Given the description of an element on the screen output the (x, y) to click on. 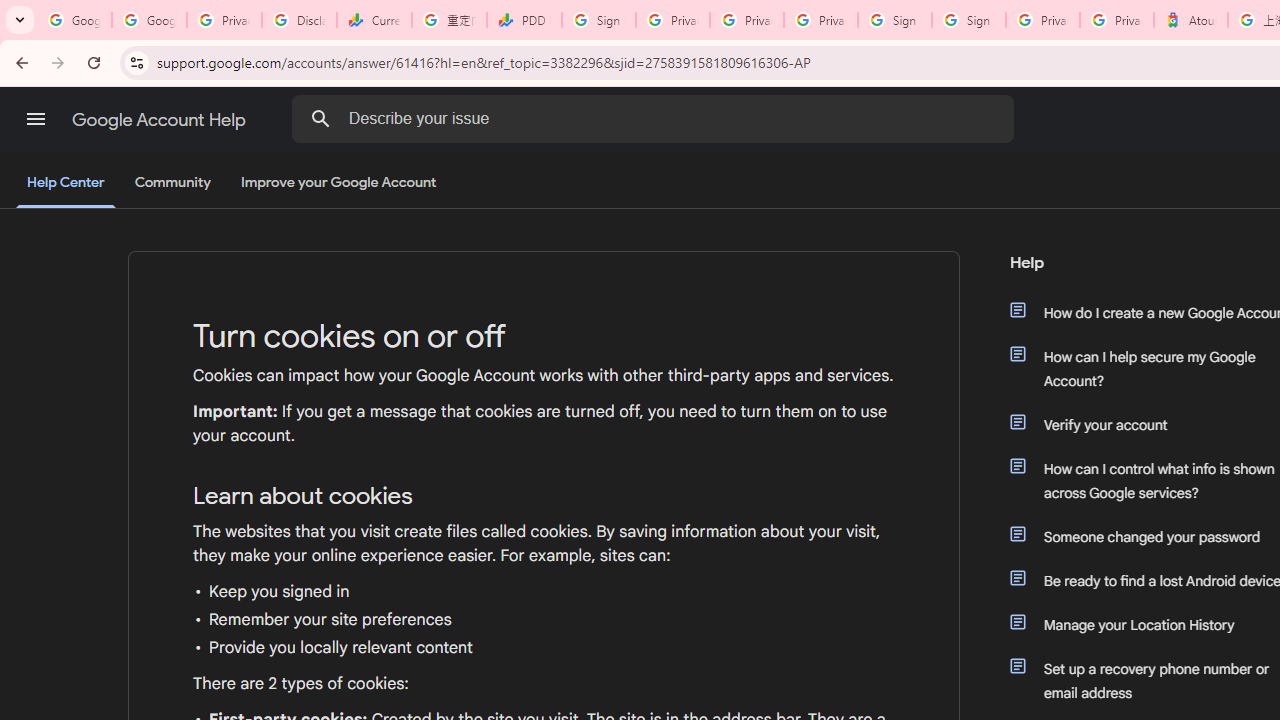
Atour Hotel - Google hotels (1190, 20)
Sign in - Google Accounts (598, 20)
Improve your Google Account (339, 183)
Help Center (65, 183)
Describe your issue (655, 118)
Sign in - Google Accounts (968, 20)
